Given the description of an element on the screen output the (x, y) to click on. 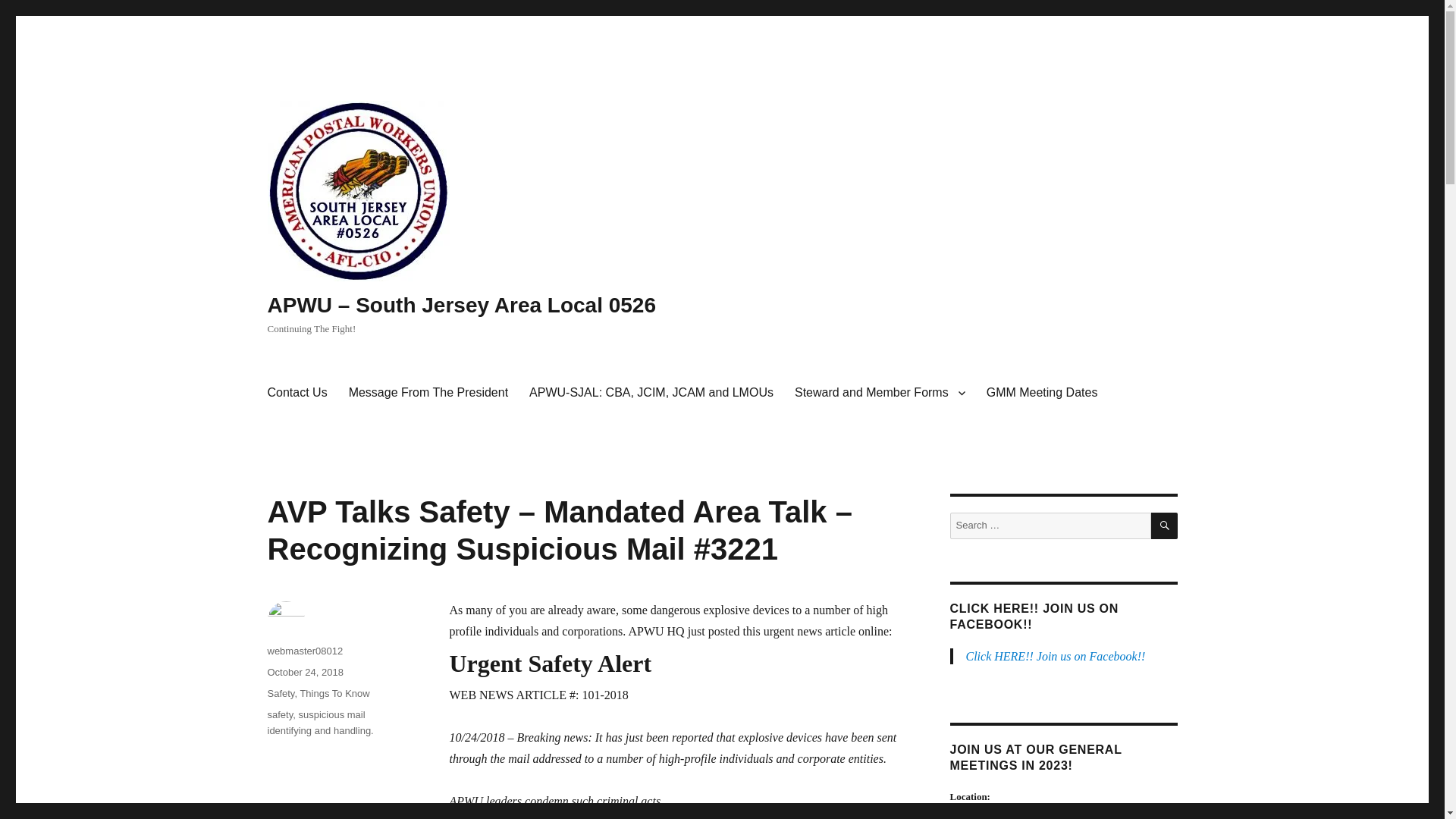
suspicious mail identifying and handling. (319, 722)
webmaster08012 (304, 650)
Things To Know (334, 693)
Message From The President (427, 392)
Contact Us (296, 392)
safety (279, 714)
Steward and Member Forms (879, 392)
CLICK HERE!! JOIN US ON FACEBOOK!! (1033, 615)
APWU-SJAL: CBA, JCIM, JCAM and LMOUs (651, 392)
October 24, 2018 (304, 672)
GMM Meeting Dates (1041, 392)
Safety (280, 693)
SEARCH (1164, 525)
Click HERE!! Join us on Facebook!! (1055, 656)
